Given the description of an element on the screen output the (x, y) to click on. 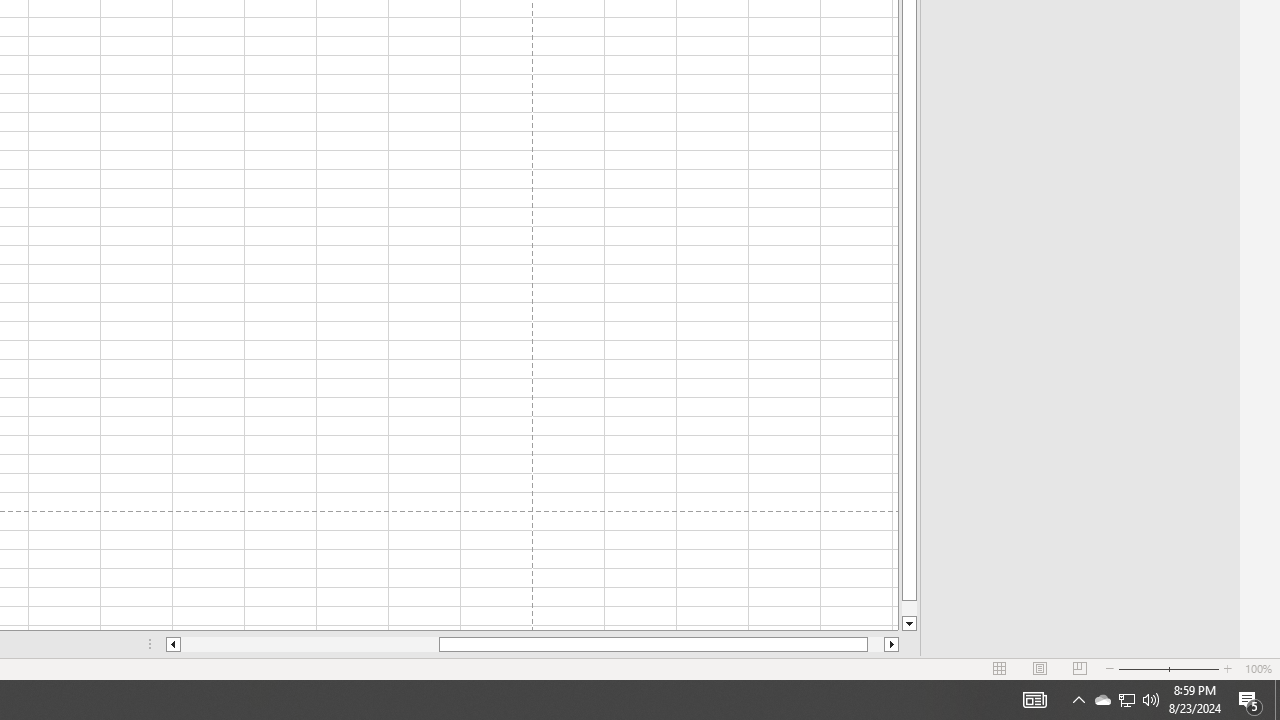
Q2790: 100% (1151, 699)
Notification Chevron (1078, 699)
Page left (1126, 699)
Show desktop (1102, 699)
User Promoted Notification Area (309, 644)
AutomationID: 4105 (1277, 699)
